Given the description of an element on the screen output the (x, y) to click on. 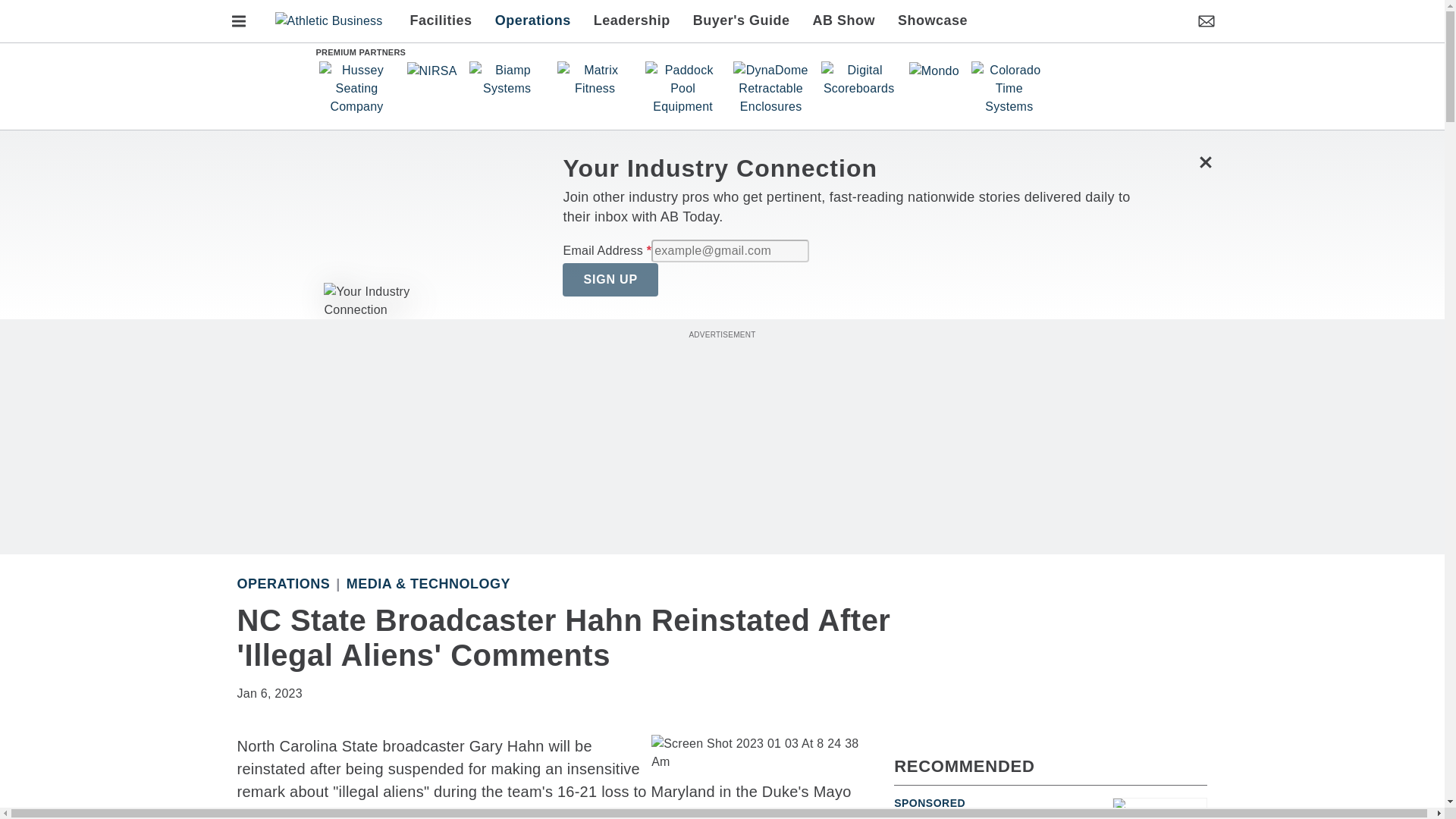
Buyer's Guide (741, 21)
Digital Scoreboards (858, 79)
NIRSA (431, 70)
Mondo (933, 70)
Showcase (927, 21)
DynaDome Retractable Enclosures (771, 88)
Hussey Seating Company (356, 88)
Paddock Pool Equipment (682, 88)
Operations (282, 583)
SIGN UP (610, 279)
